Given the description of an element on the screen output the (x, y) to click on. 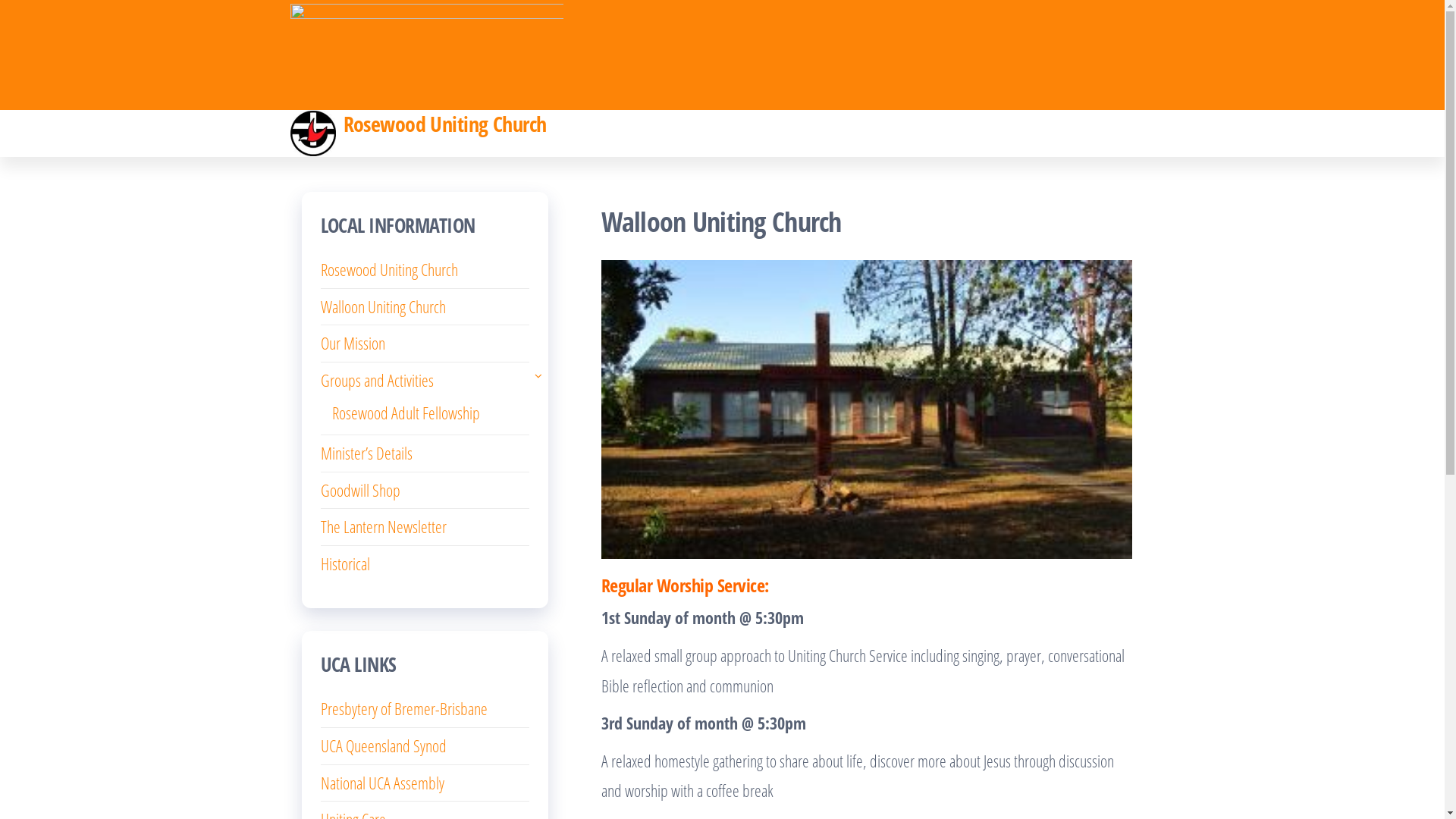
National UCA Assembly Element type: text (381, 782)
Presbytery of Bremer-Brisbane Element type: text (403, 707)
UCA Queensland Synod Element type: text (382, 745)
The Lantern Newsletter Element type: text (382, 525)
Rosewood Uniting Church Element type: text (388, 268)
Groups and Activities Element type: text (376, 379)
Rosewood Uniting Church Element type: text (444, 123)
Historical Element type: text (344, 563)
Walloon Uniting Church Element type: text (382, 305)
Goodwill Shop Element type: text (359, 489)
Rosewood Adult Fellowship Element type: text (406, 412)
Our Mission Element type: text (352, 342)
